Given the description of an element on the screen output the (x, y) to click on. 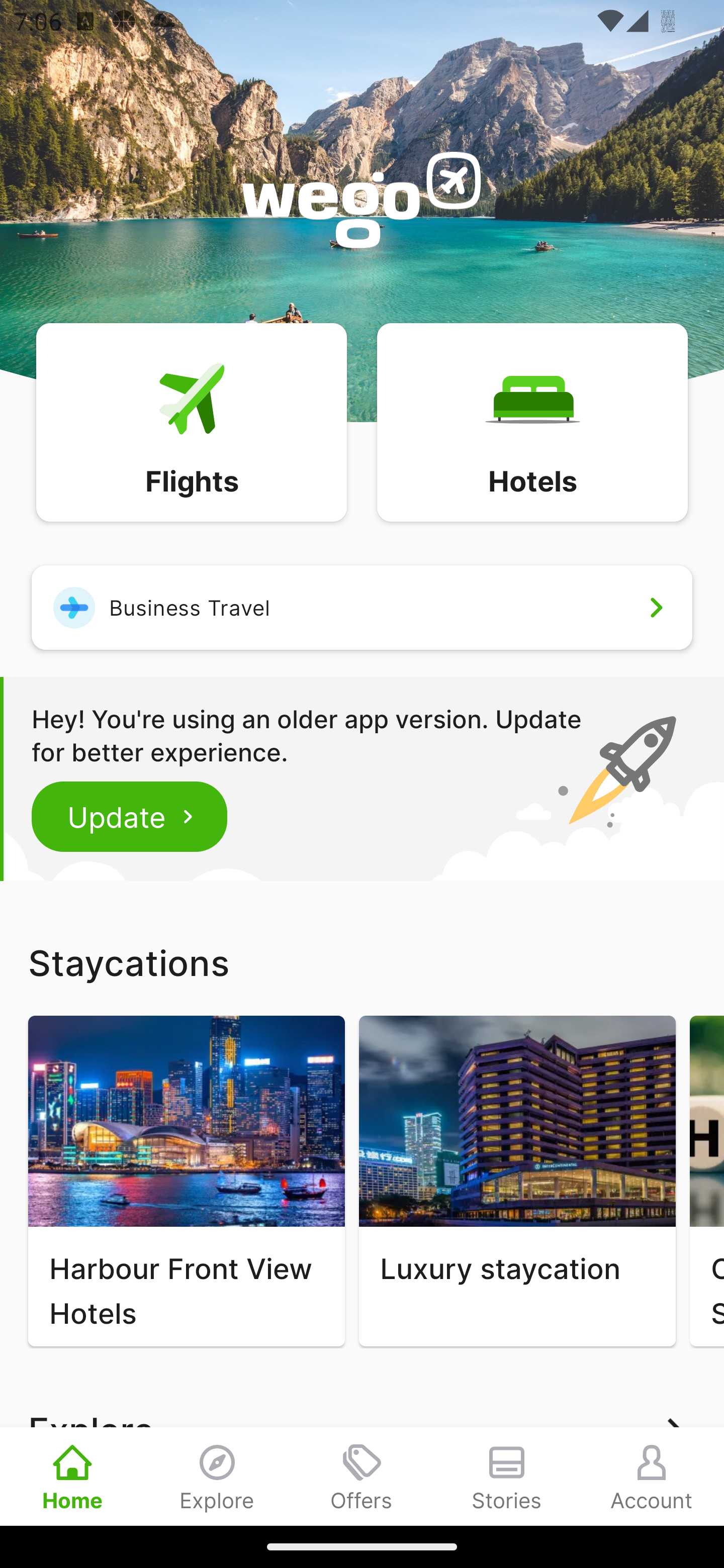
Flights (191, 420)
Hotels (532, 420)
Business Travel (361, 607)
Update (129, 815)
Staycations (362, 962)
Harbour Front View Hotels (186, 1181)
Luxury staycation (517, 1181)
Explore (216, 1475)
Offers (361, 1475)
Stories (506, 1475)
Account (651, 1475)
